Given the description of an element on the screen output the (x, y) to click on. 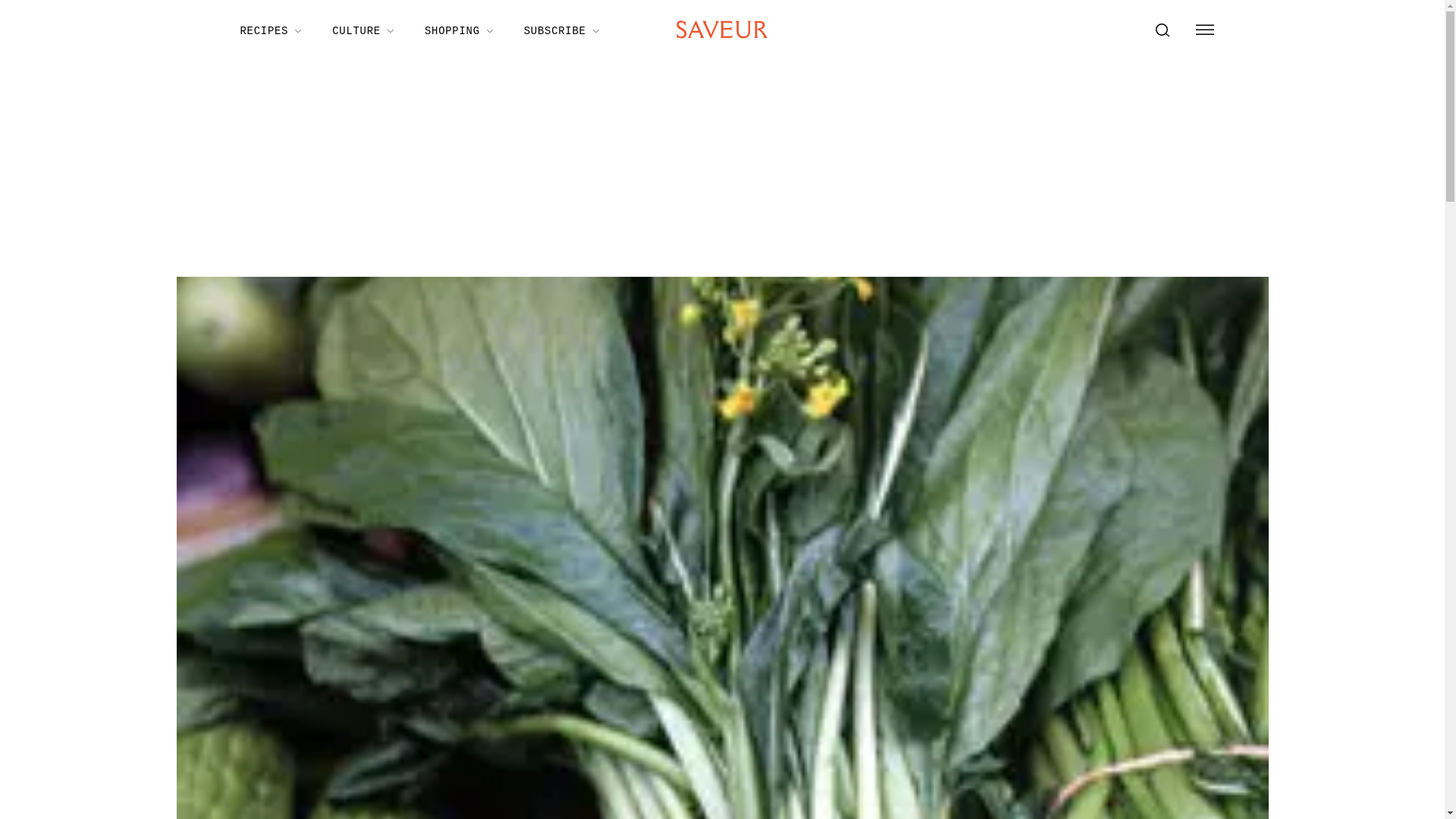
RECIPES (270, 31)
Subscribe (561, 31)
SHOPPING (458, 31)
Shopping (458, 31)
CULTURE (363, 31)
Recipes (270, 31)
SUBSCRIBE (561, 31)
Culture (363, 31)
